Given the description of an element on the screen output the (x, y) to click on. 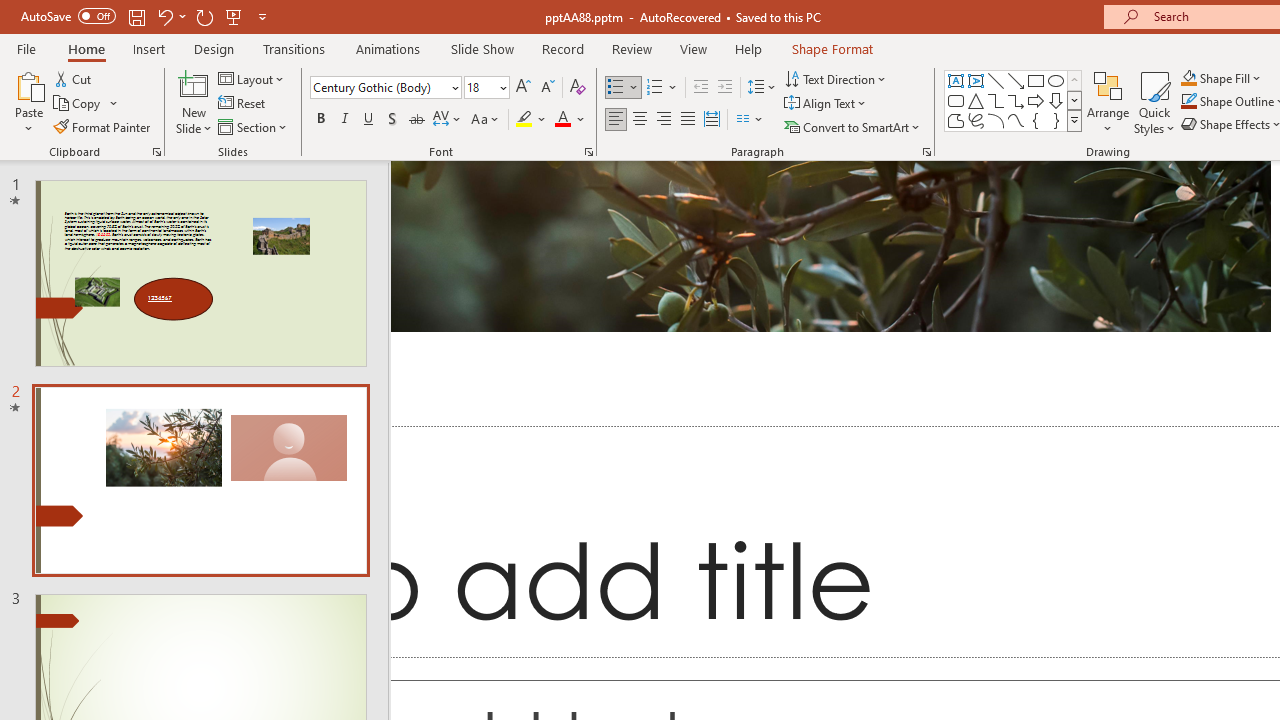
Align Left (616, 119)
Paste (28, 84)
Justify (687, 119)
Bold (320, 119)
Shape Fill (1221, 78)
Shape Format (832, 48)
Open (502, 87)
Decrease Indent (700, 87)
Isosceles Triangle (975, 100)
Convert to SmartArt (853, 126)
Font Color Red (562, 119)
Change Case (486, 119)
Bullets (623, 87)
Align Right (663, 119)
Numbering (654, 87)
